Given the description of an element on the screen output the (x, y) to click on. 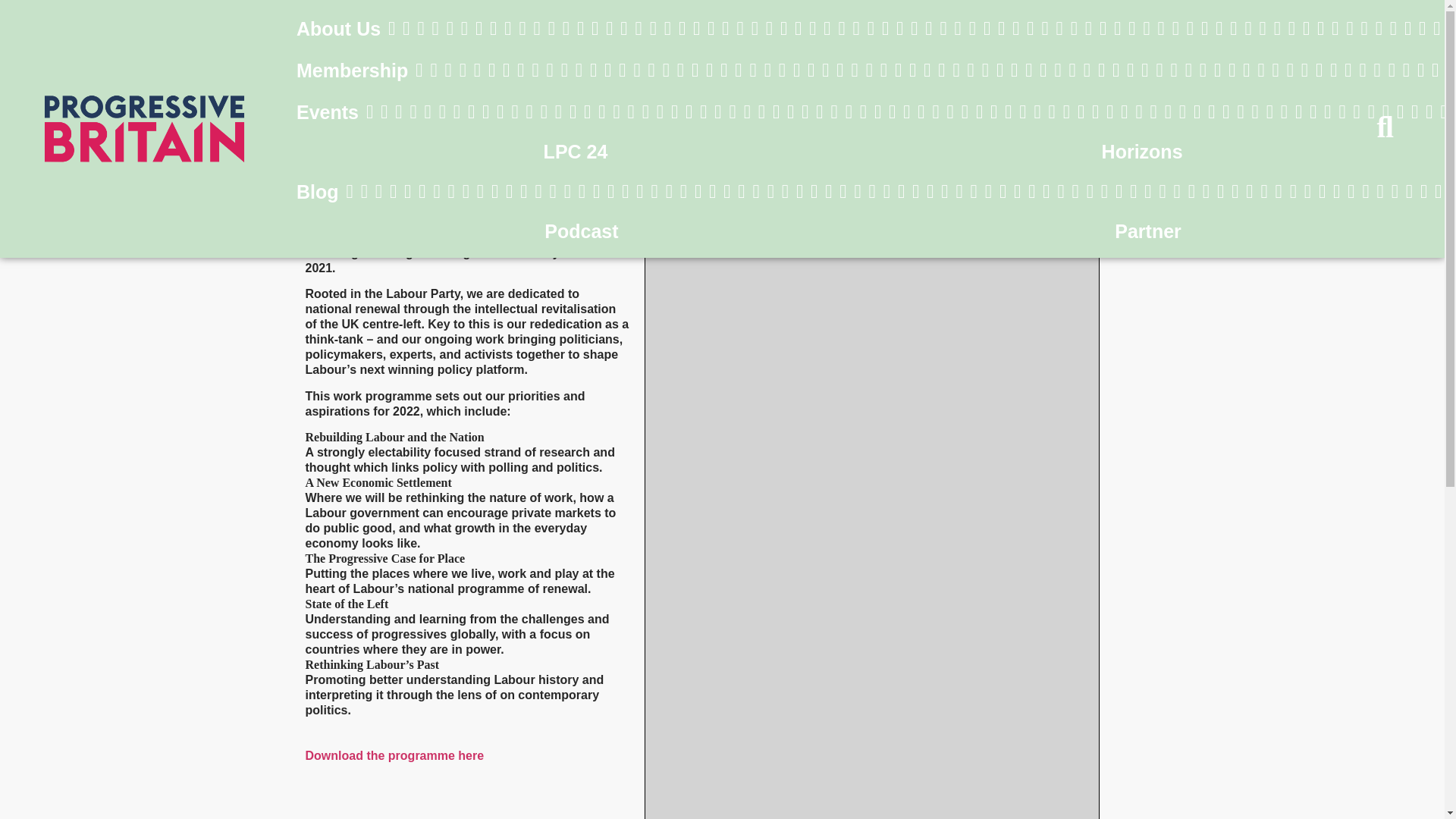
Podcast (581, 218)
Partner (1147, 218)
Horizons (1141, 121)
LPC 24 (575, 119)
